Given the description of an element on the screen output the (x, y) to click on. 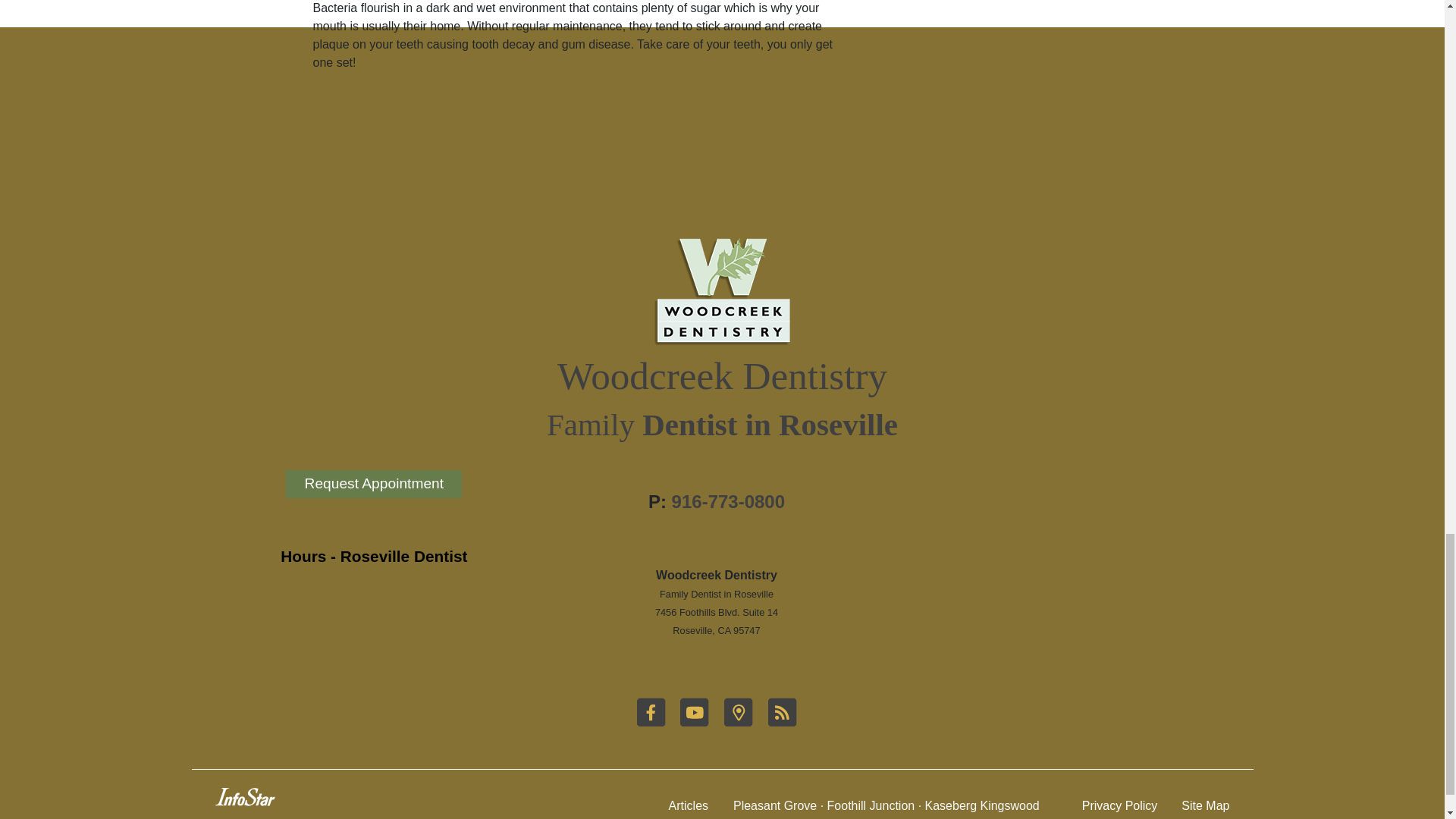
Map Link (739, 722)
Woodcreek logo - back to homepage (721, 292)
Call Us (727, 501)
Youtube Link (695, 722)
InfoStar Productions - Dental Web Site Design (245, 796)
Request Appointment (373, 501)
InfoStar Productions - Dental Web Site Design (245, 801)
Blog Link (781, 722)
Facebook Link (652, 722)
916-773-0800 (727, 501)
